Given the description of an element on the screen output the (x, y) to click on. 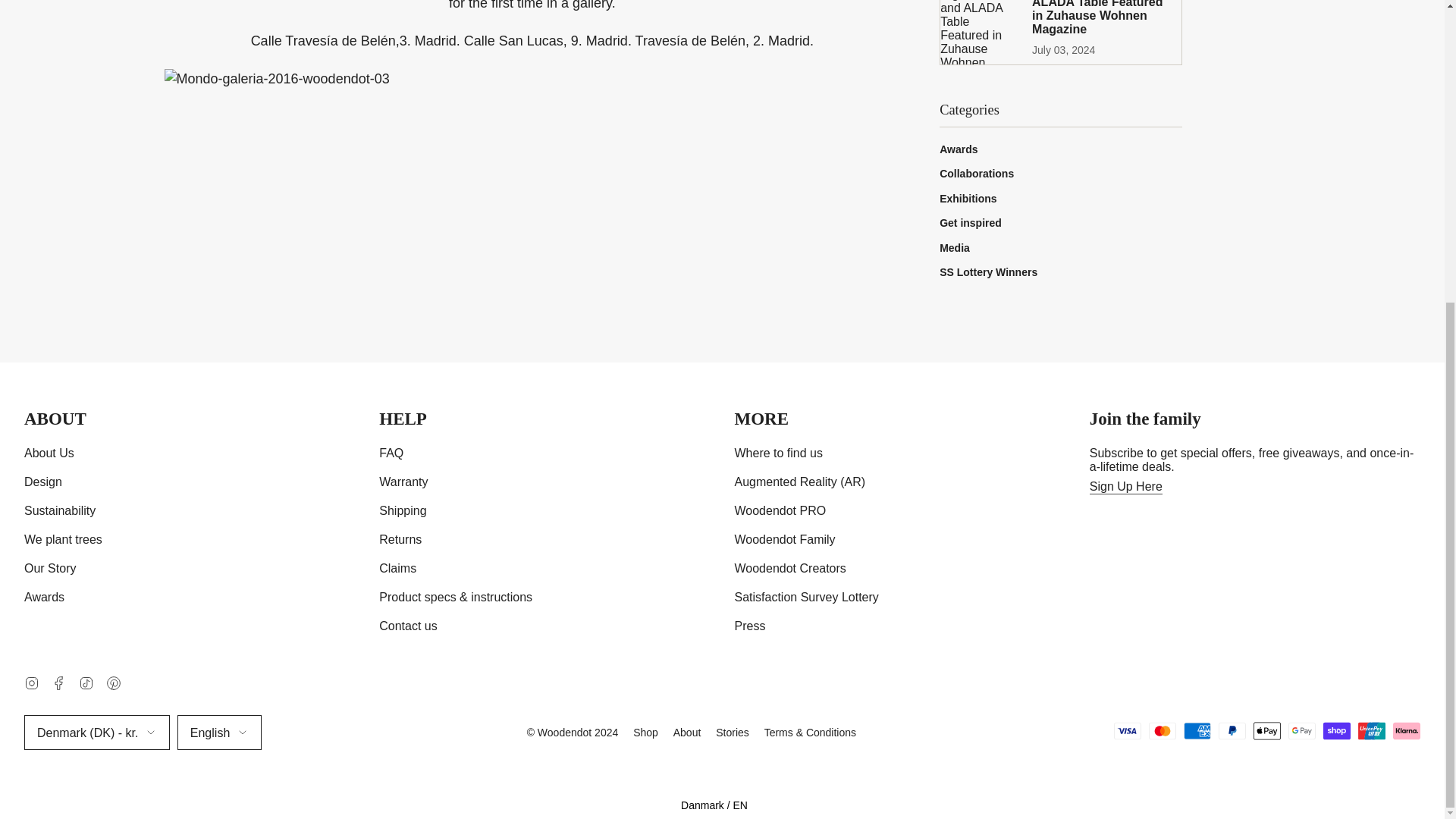
PayPal (1232, 730)
Google Pay (1302, 730)
Klarna (1407, 730)
Woodendot on Pinterest (113, 681)
Union Pay (1372, 730)
Mastercard (1162, 730)
Shop Pay (1337, 730)
Apple Pay (1267, 730)
Woodendot on Instagram (31, 681)
Woodendot on TikTok (86, 681)
Woodendot on Facebook (58, 681)
American Express (1197, 730)
Visa (1127, 730)
Landing Subscription (1125, 487)
